Given the description of an element on the screen output the (x, y) to click on. 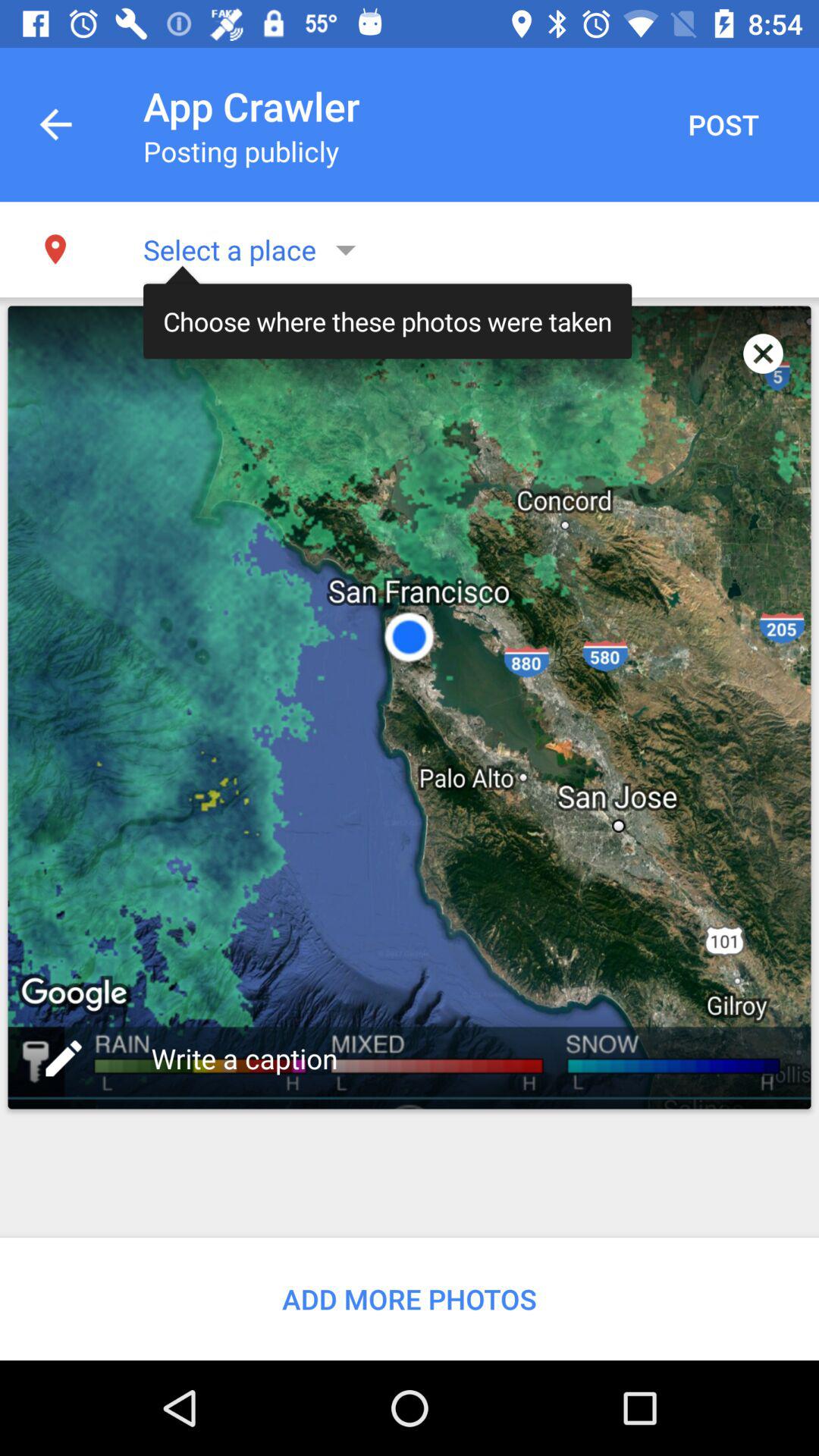
launch the post item (723, 124)
